Given the description of an element on the screen output the (x, y) to click on. 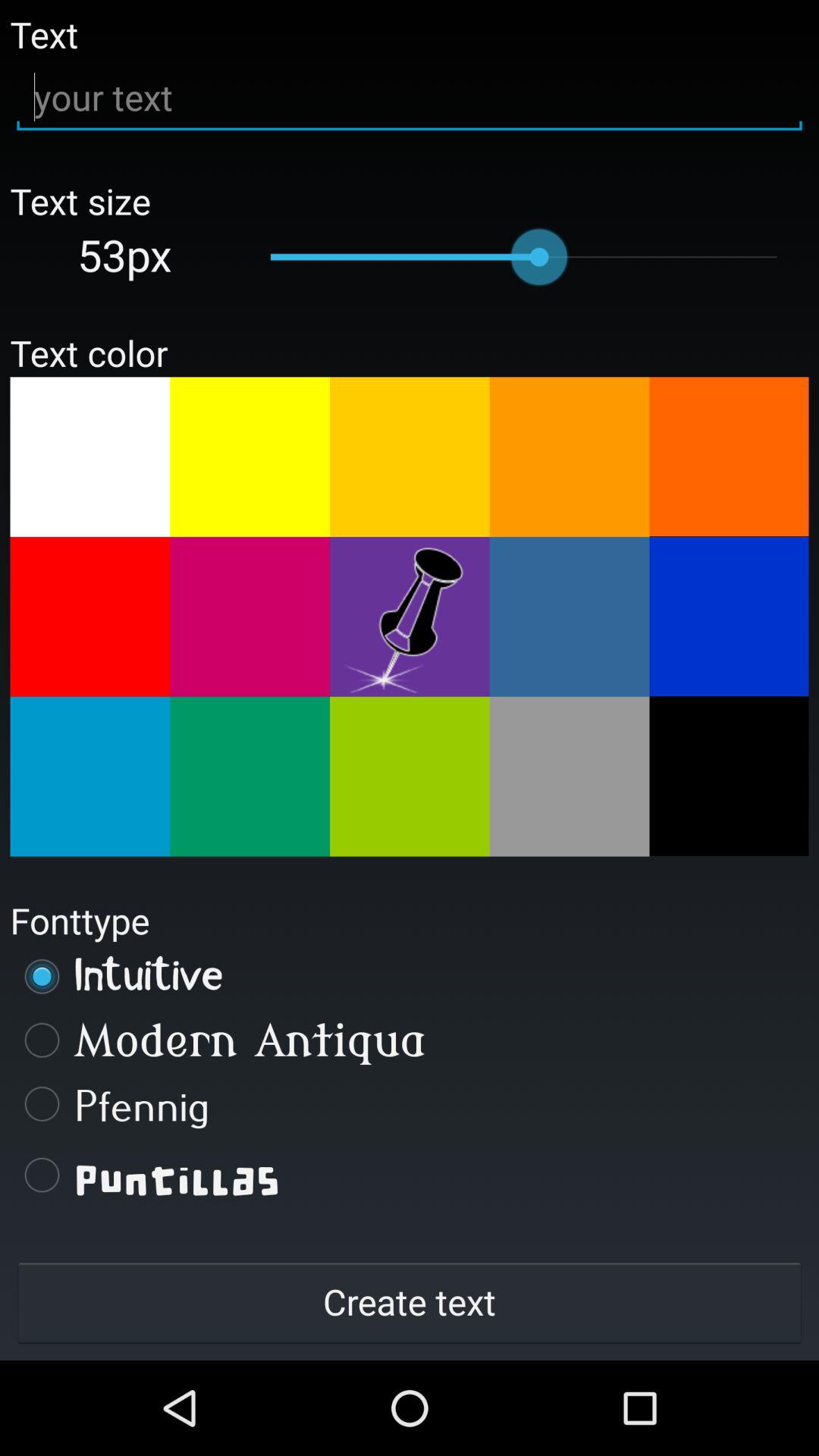
select blue color (728, 616)
